Given the description of an element on the screen output the (x, y) to click on. 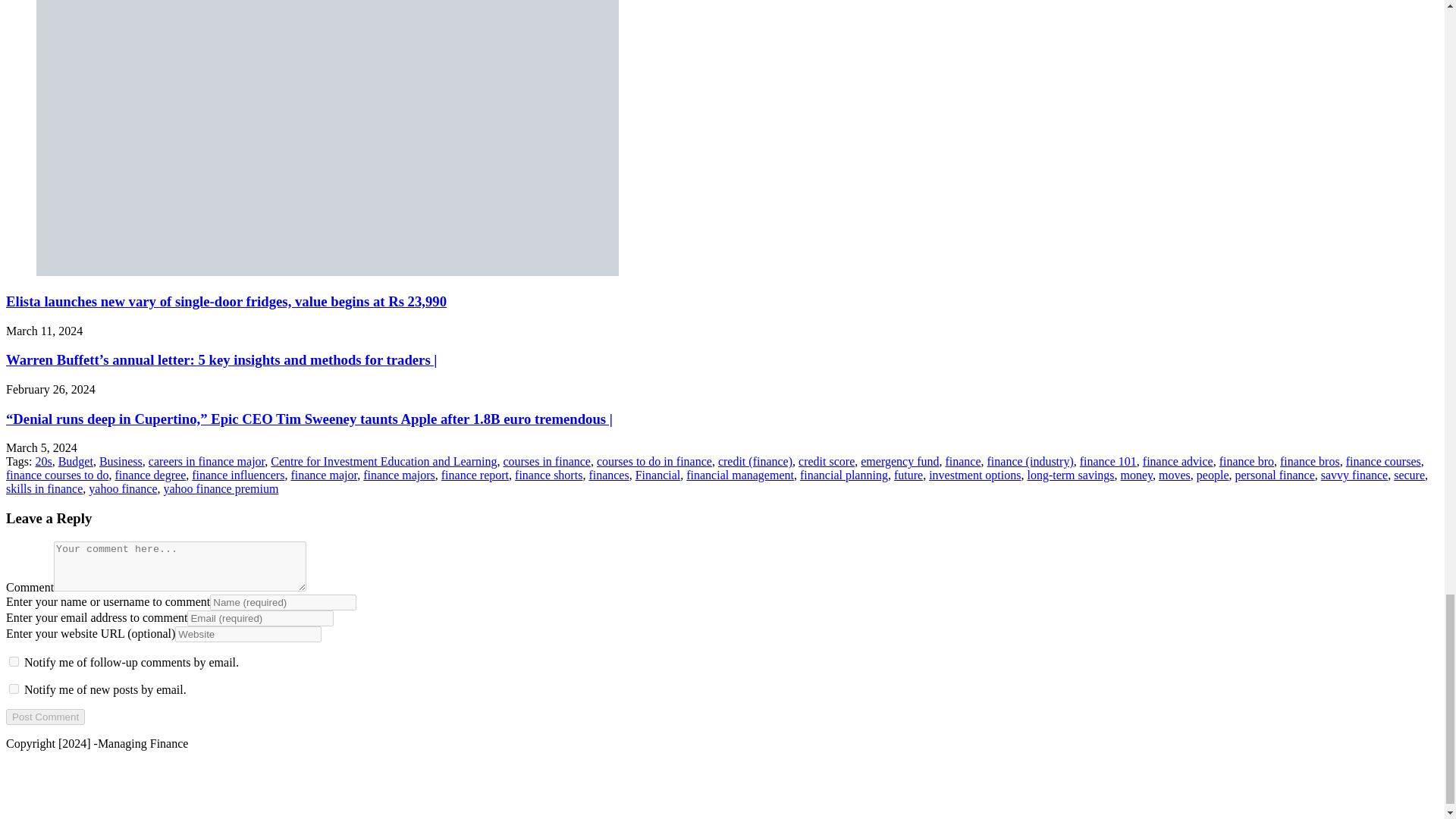
subscribe (13, 688)
subscribe (13, 661)
Post Comment (44, 716)
